Given the description of an element on the screen output the (x, y) to click on. 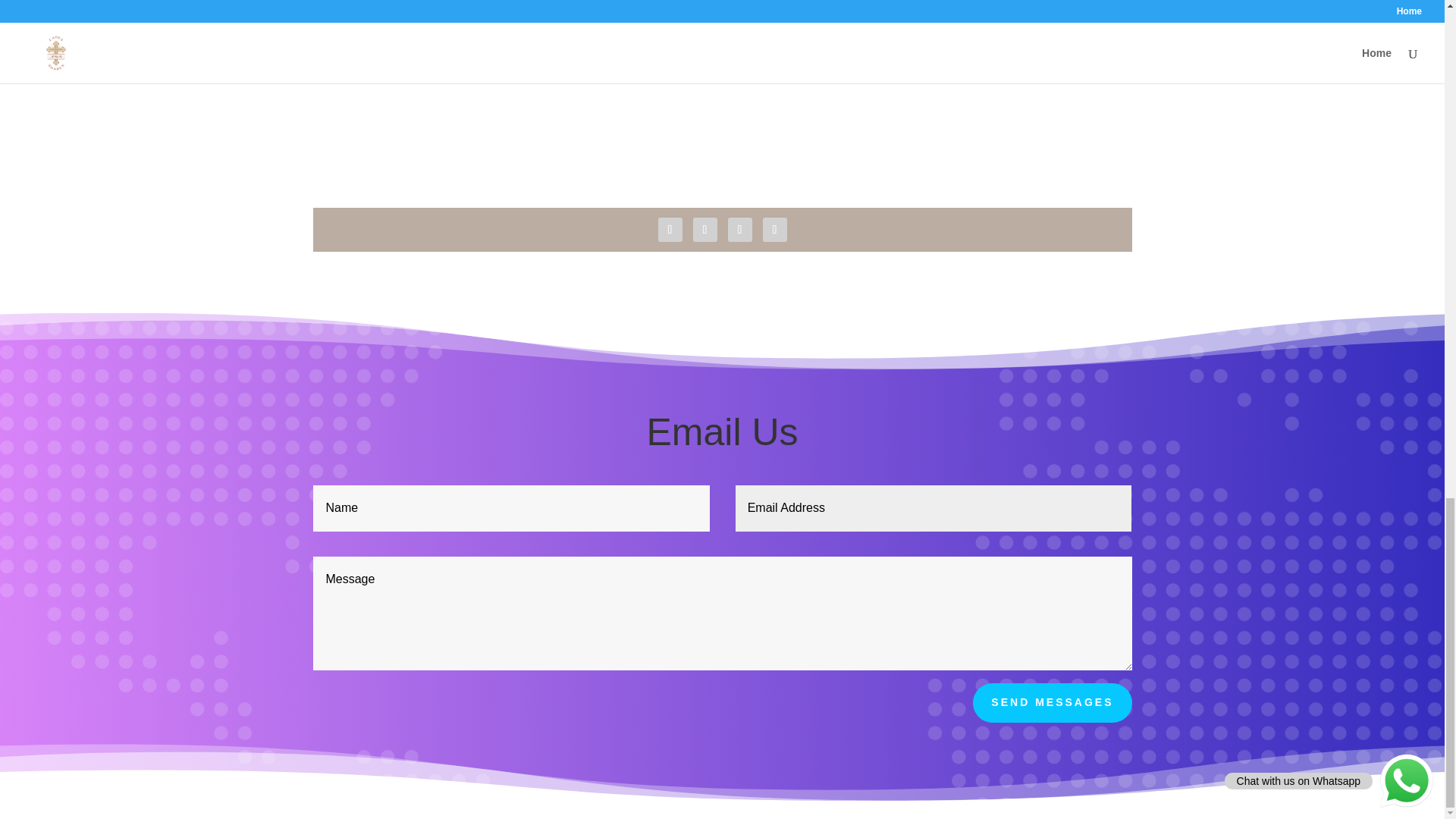
SEND MESSAGES (1051, 702)
Follow on Facebook (670, 229)
Follow on Youtube (740, 229)
Follow on Twitter (705, 229)
Follow on Instagram (774, 229)
